Given the description of an element on the screen output the (x, y) to click on. 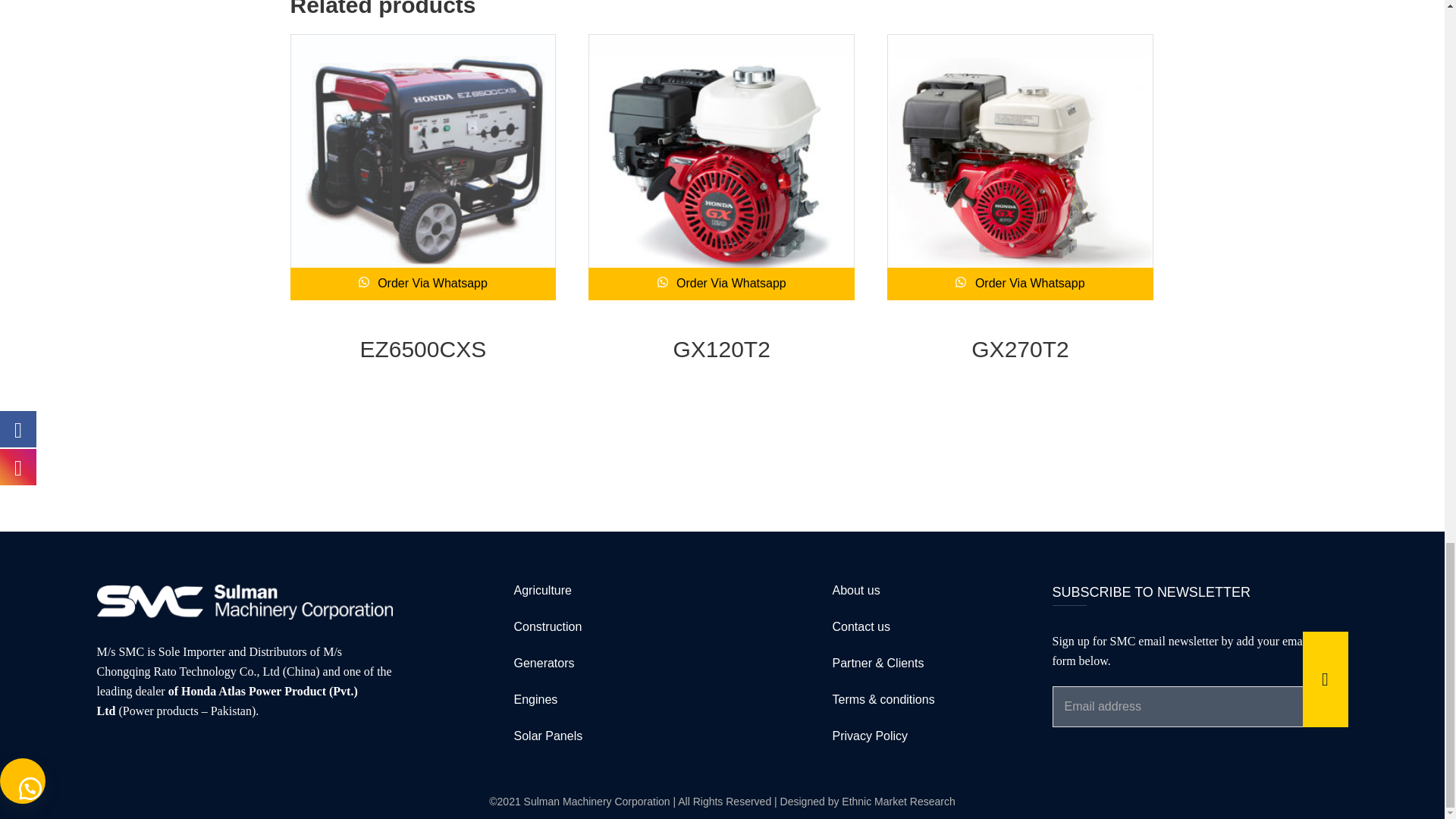
Complete order on WhatsApp to buy GX120T2 (721, 283)
Complete order on WhatsApp to buy GX270T2 (1019, 283)
Complete order on WhatsApp to buy EZ6500CXS (422, 283)
